Given the description of an element on the screen output the (x, y) to click on. 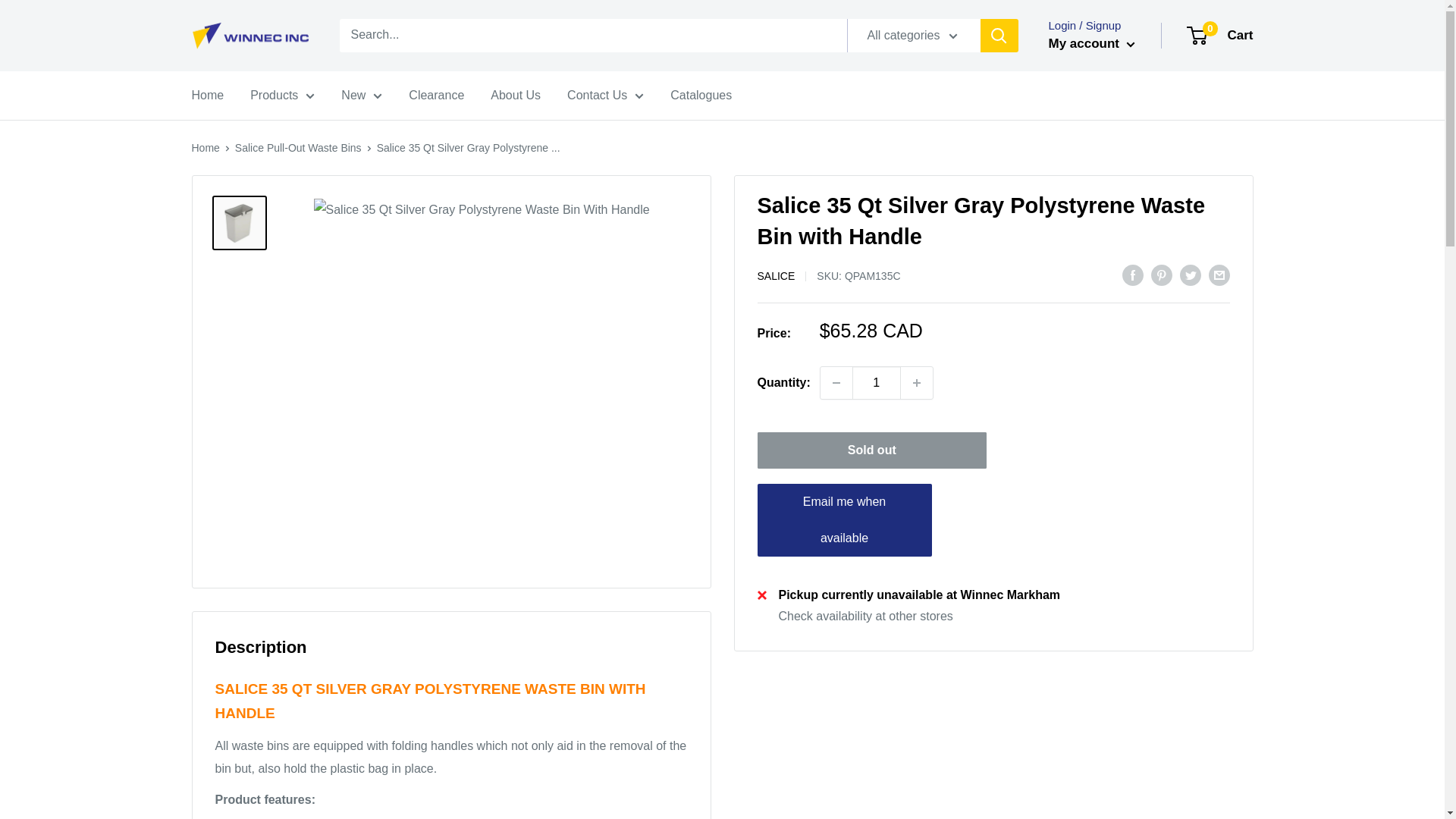
1 (876, 382)
Increase quantity by 1 (917, 382)
Decrease quantity by 1 (836, 382)
